Given the description of an element on the screen output the (x, y) to click on. 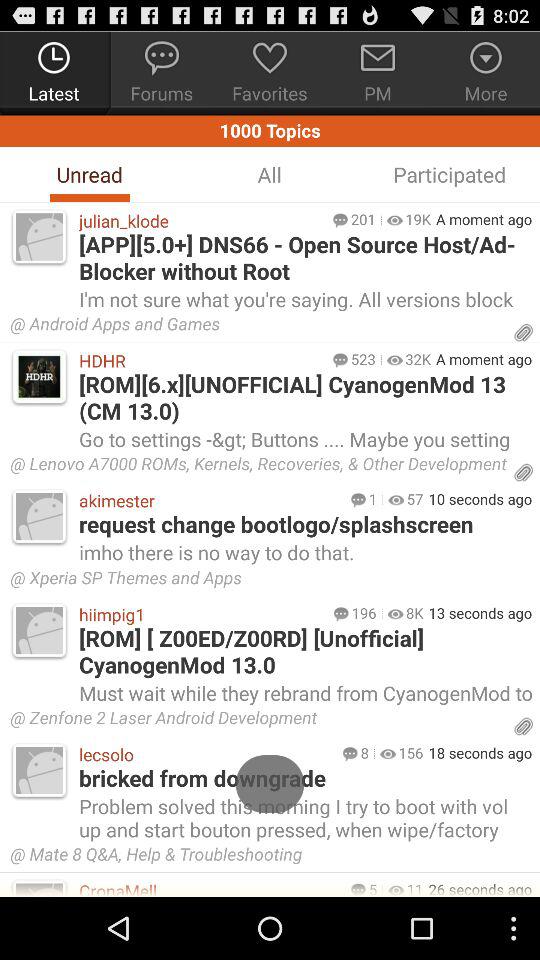
press the participated icon (449, 174)
